Given the description of an element on the screen output the (x, y) to click on. 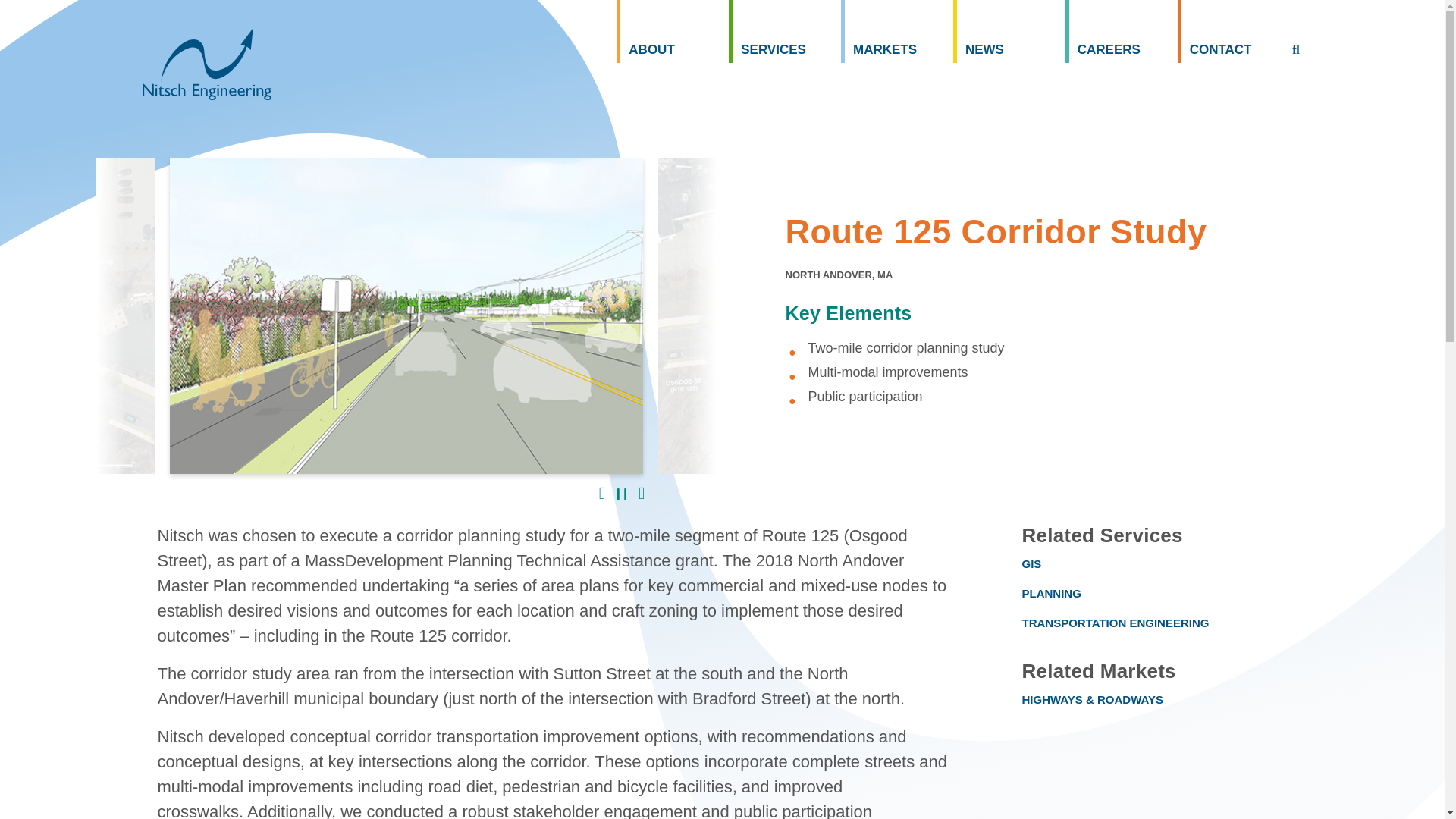
NEWS (1009, 31)
MARKETS (897, 31)
ABOUT (672, 31)
SERVICES (785, 31)
CAREERS (1121, 31)
Skip Navigation (47, 1)
